Given the description of an element on the screen output the (x, y) to click on. 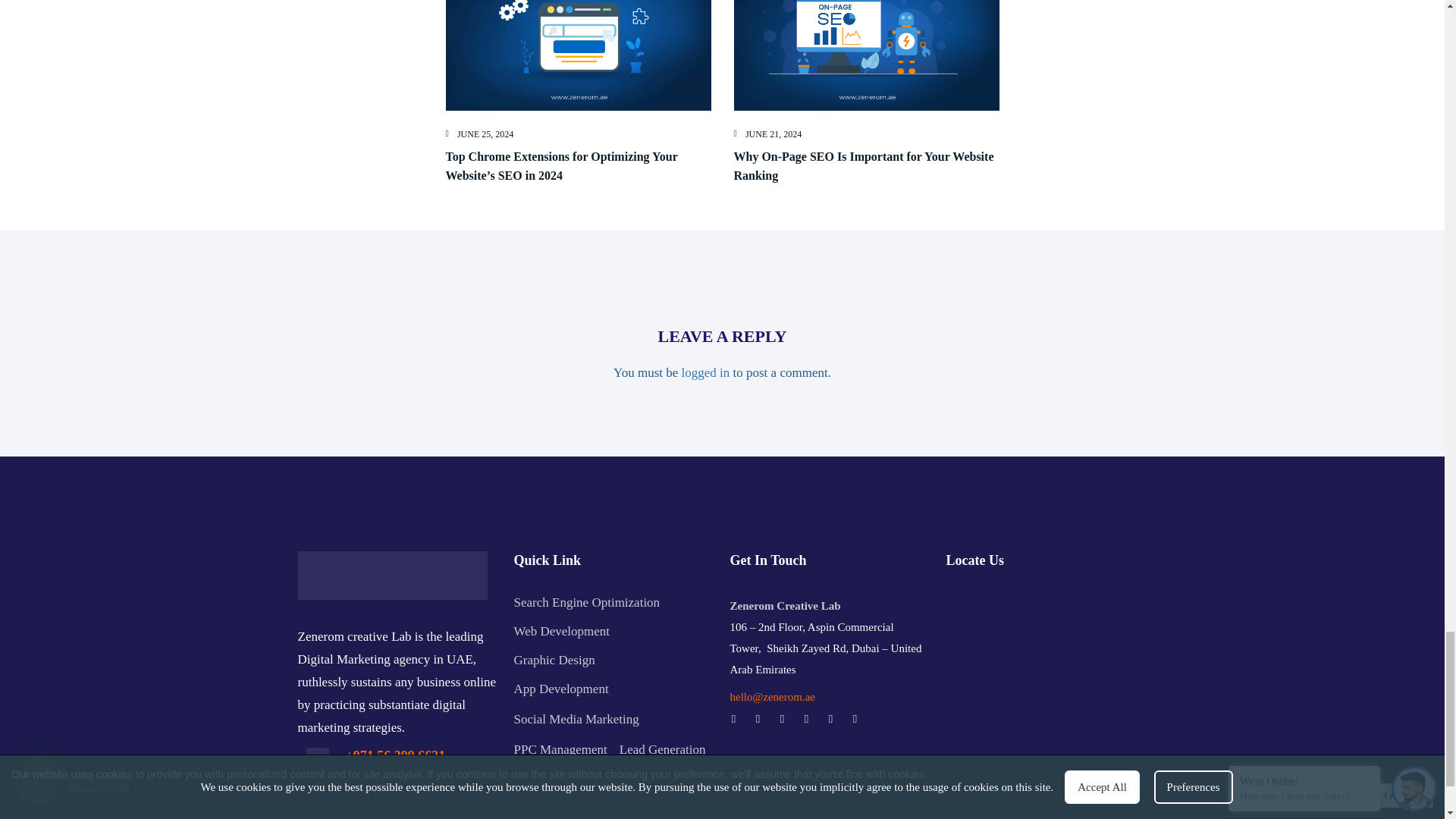
Why On-Page SEO Is Important for Your Website Ranking (863, 165)
